Given the description of an element on the screen output the (x, y) to click on. 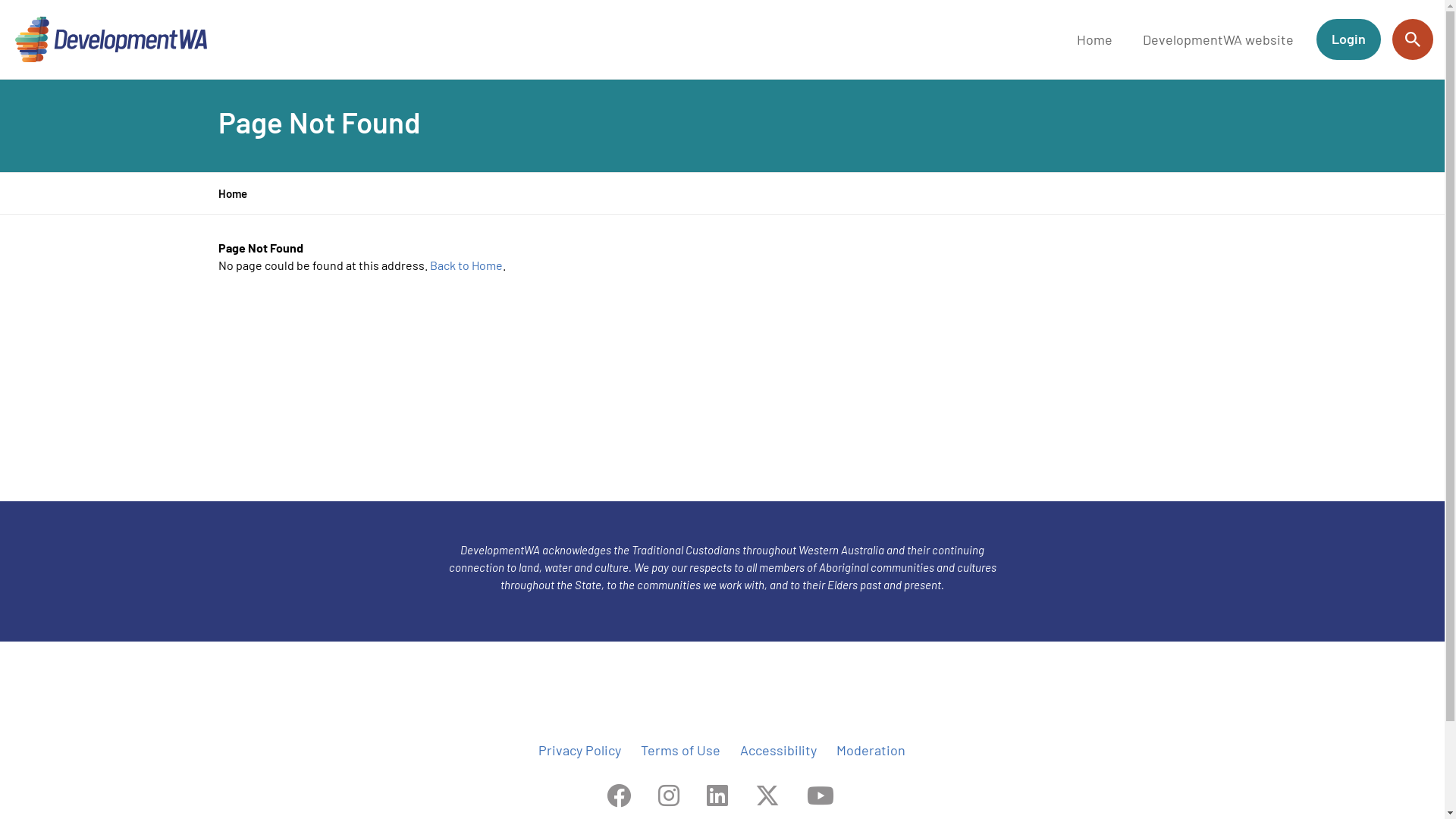
LinkedIn Element type: hover (716, 795)
Facebook Element type: hover (618, 795)
Instagram Element type: hover (668, 795)
Moderation Element type: text (870, 750)
Accessibility Element type: text (778, 750)
Terms of Use Element type: text (680, 750)
Back to Home Element type: text (465, 264)
Youtube Element type: hover (820, 795)
X Element type: hover (767, 795)
Login Element type: text (1348, 38)
Privacy Policy Element type: text (579, 750)
Home Element type: text (1094, 39)
DevelopmentWA website Element type: text (1218, 39)
Home Element type: text (232, 193)
